Given the description of an element on the screen output the (x, y) to click on. 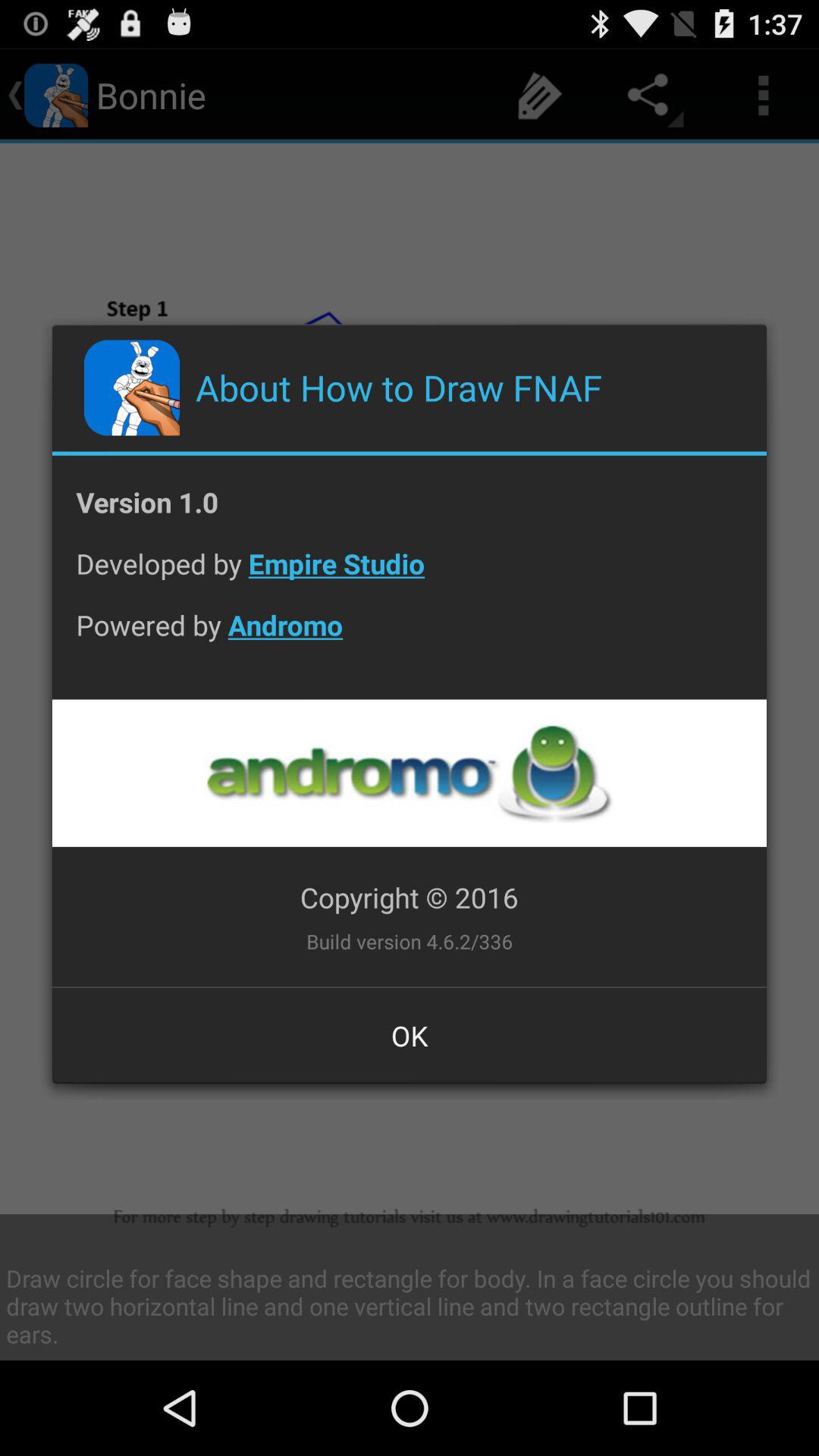
tap powered by andromo icon (409, 636)
